Given the description of an element on the screen output the (x, y) to click on. 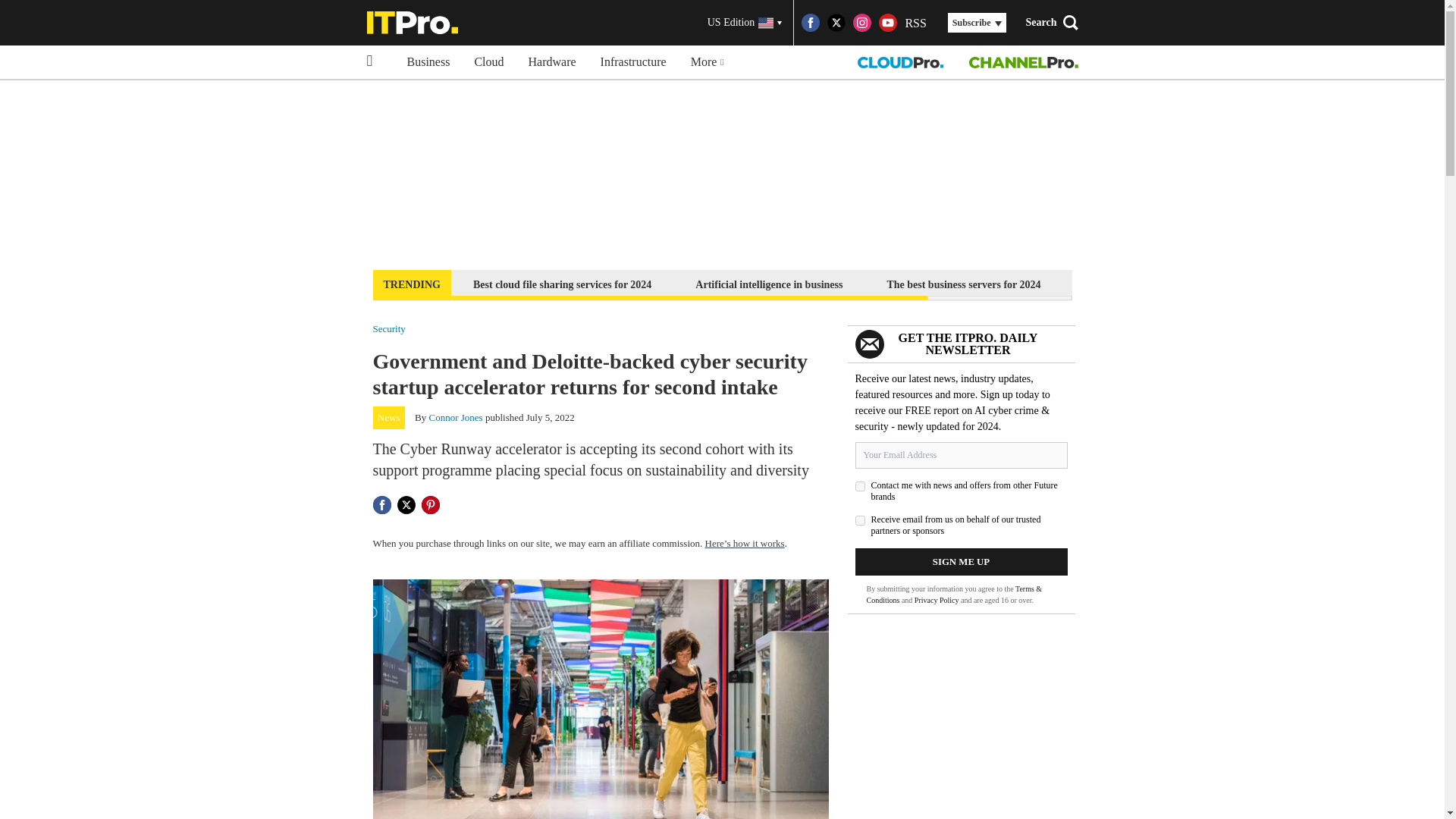
on (860, 486)
RSS (915, 22)
Cloud (488, 61)
Best cloud file sharing services for 2024 (561, 284)
Business (427, 61)
The best business servers for 2024 (962, 284)
Connor Jones (456, 417)
Security (389, 327)
US Edition (745, 22)
Infrastructure (633, 61)
